Given the description of an element on the screen output the (x, y) to click on. 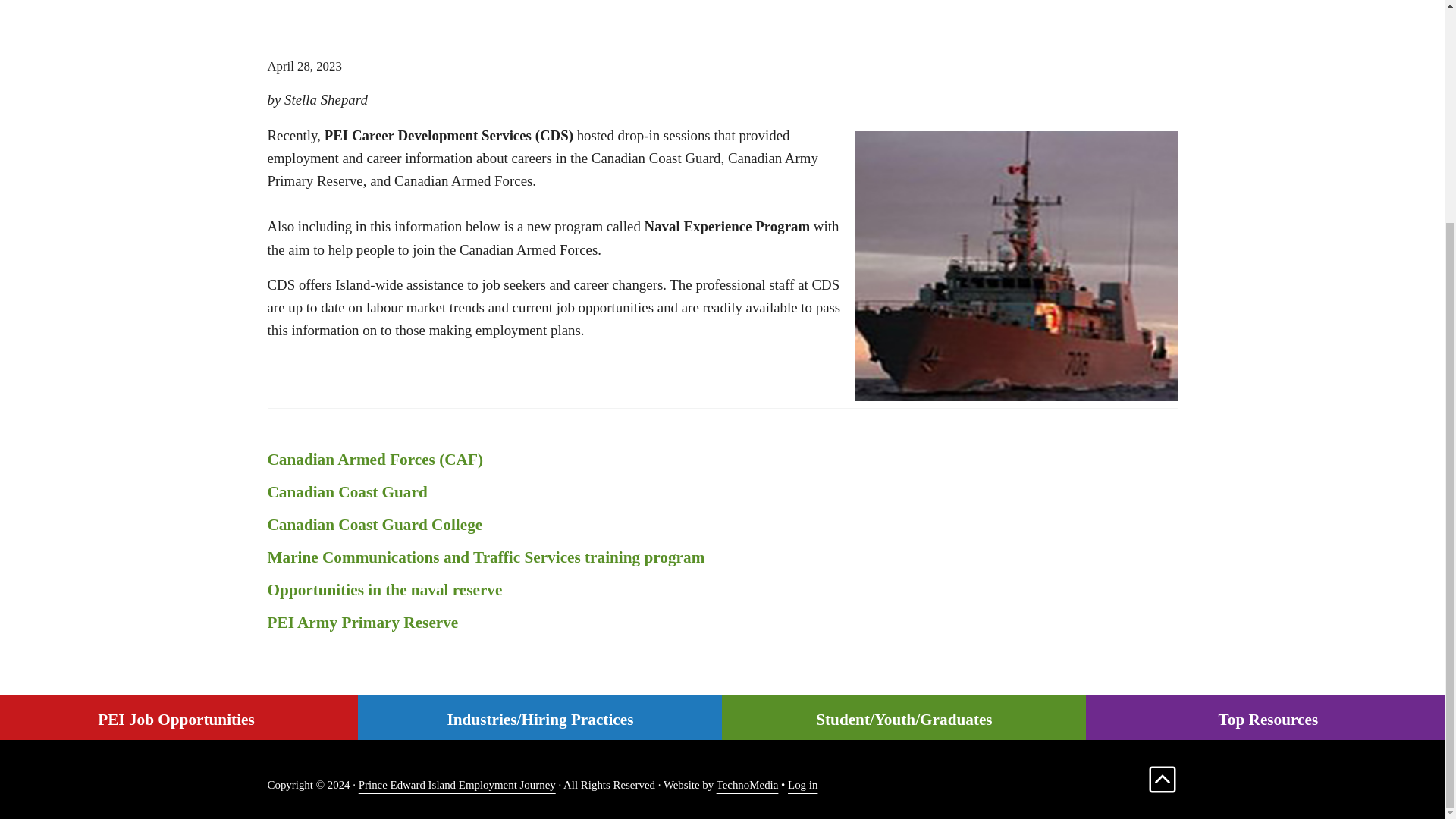
PEI Army Primary Reserve (721, 622)
Canadian Coast Guard (721, 492)
PEI Job Opportunities (179, 720)
Canadian Coast Guard College (721, 525)
Marine Communications and Traffic Services training program (721, 557)
Opportunities in the naval reserve (721, 589)
